Given the description of an element on the screen output the (x, y) to click on. 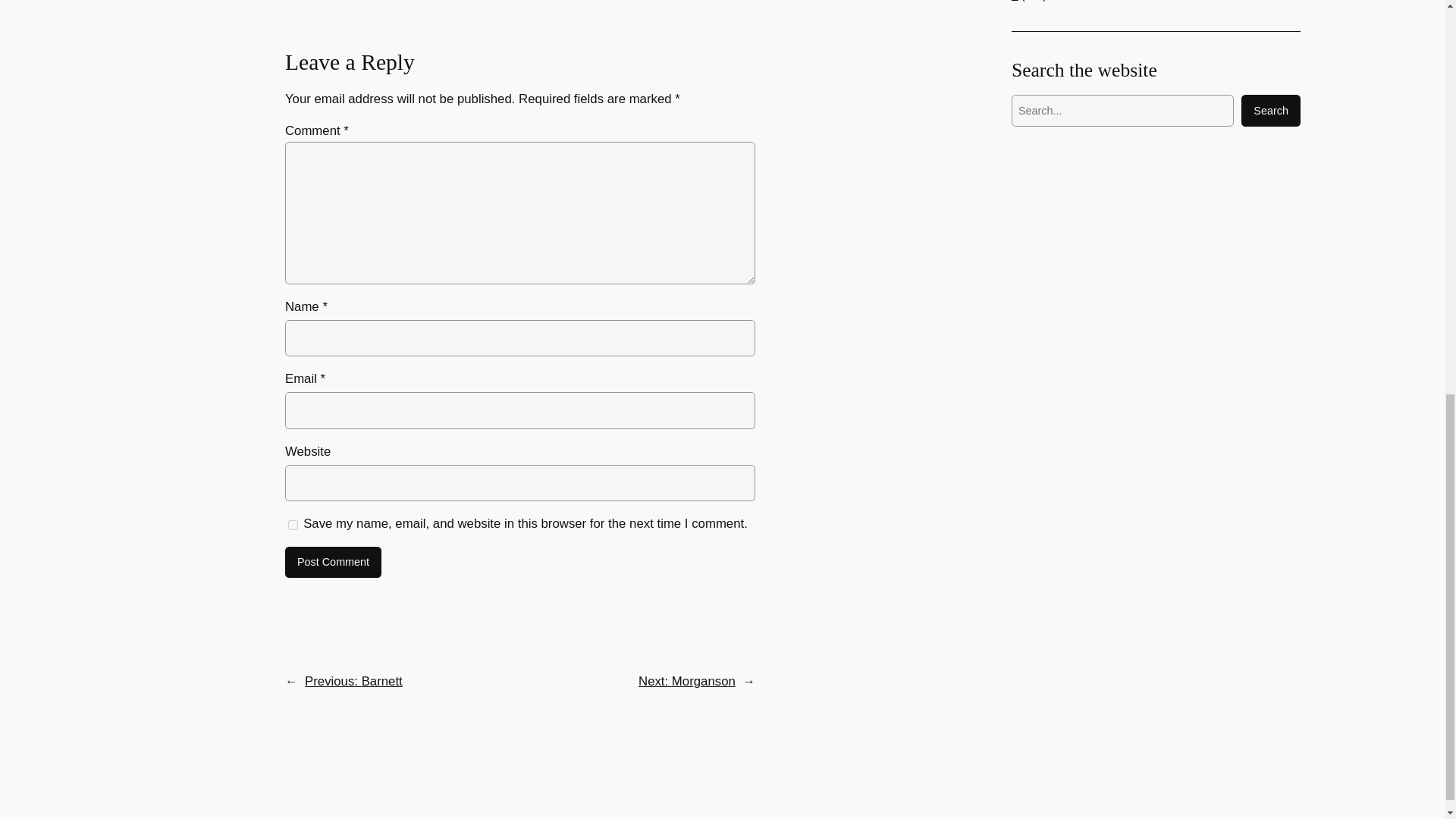
Post Comment (333, 562)
Next: Morganson (687, 681)
Previous: Barnett (353, 681)
Post Comment (333, 562)
